Given the description of an element on the screen output the (x, y) to click on. 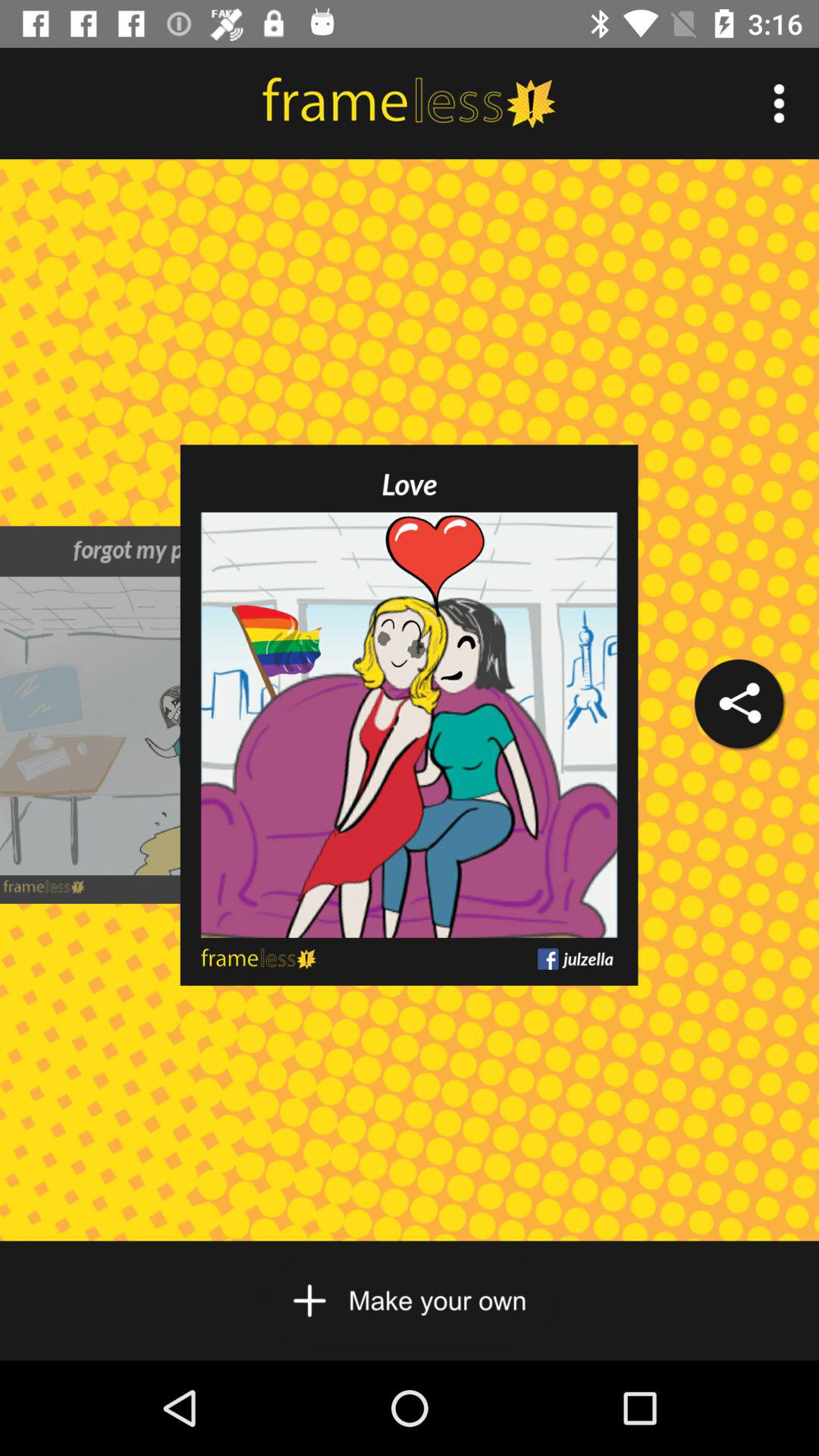
share (738, 703)
